Given the description of an element on the screen output the (x, y) to click on. 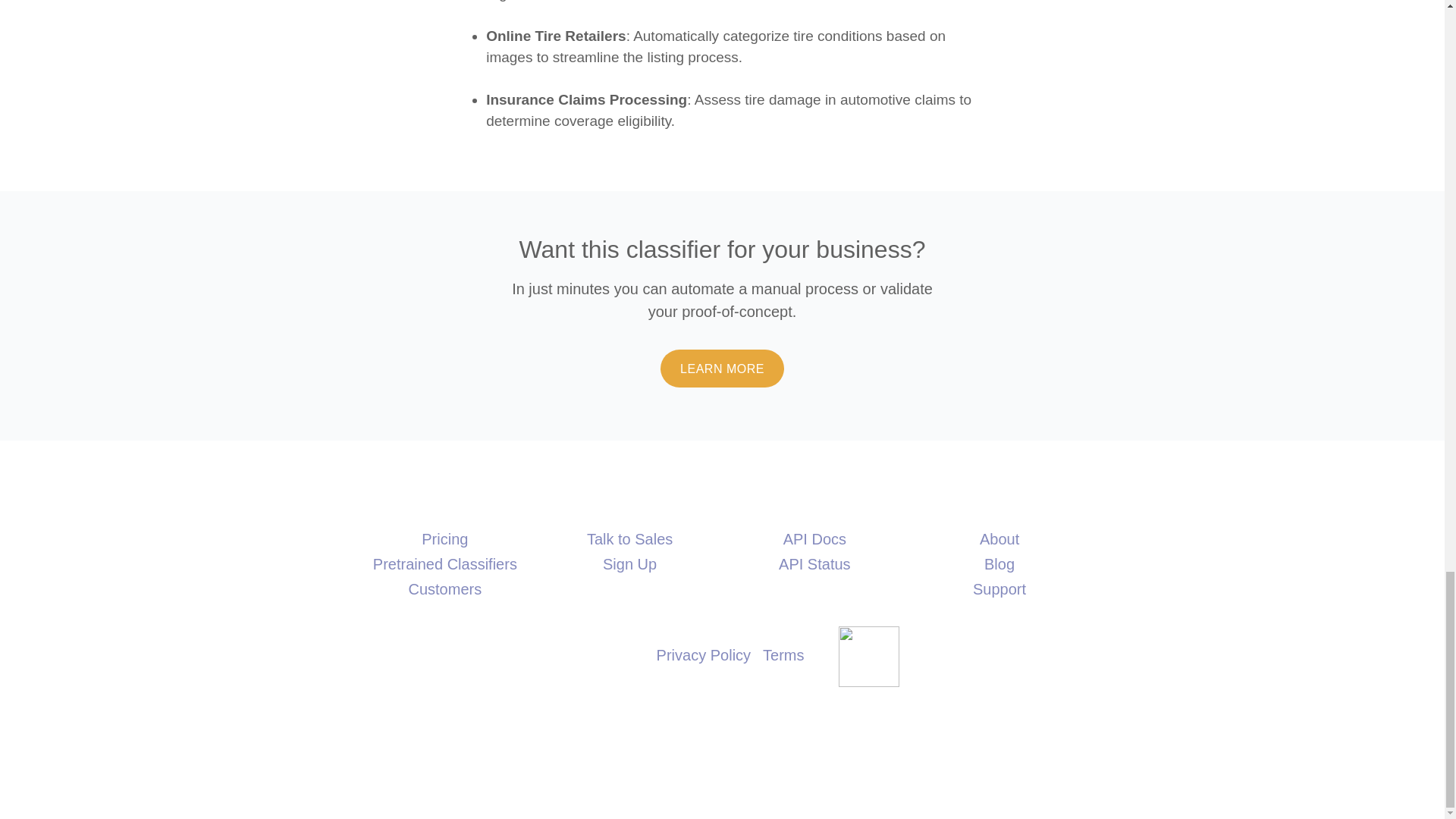
Pretrained Classifiers (444, 564)
Pricing (444, 538)
LEARN MORE (722, 368)
Customers (444, 588)
